Given the description of an element on the screen output the (x, y) to click on. 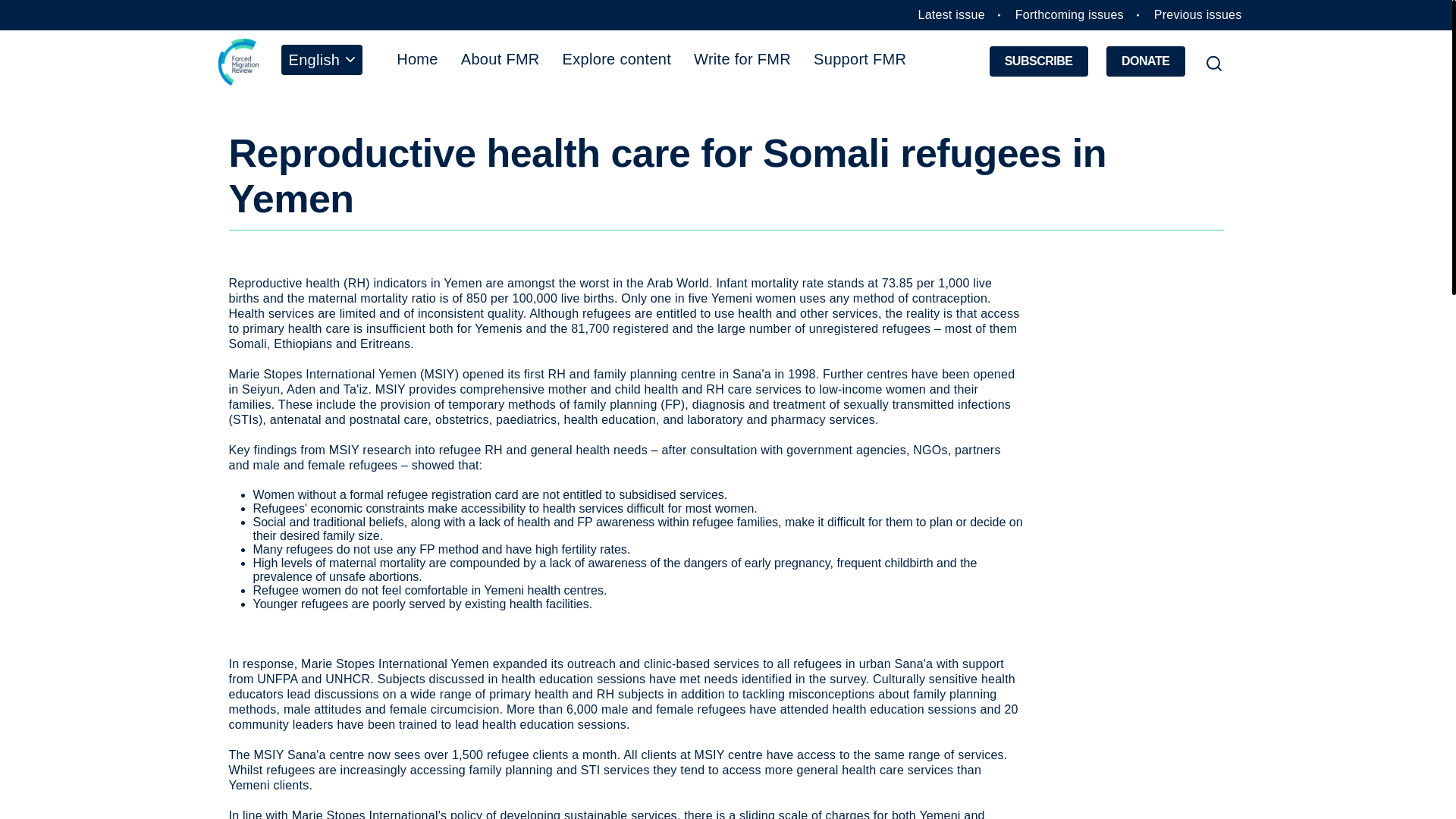
Support FMR (859, 58)
About FMR (500, 58)
Latest issue (951, 14)
Explore content (616, 58)
Home (417, 58)
Forthcoming issues (1069, 14)
Previous issues (1197, 14)
Latest issue (951, 14)
English (321, 59)
Write for FMR (742, 58)
SUBSCRIBE (1038, 60)
English (321, 59)
Previous issues (1197, 14)
Forthcoming issues (1069, 14)
DONATE (1145, 60)
